Given the description of an element on the screen output the (x, y) to click on. 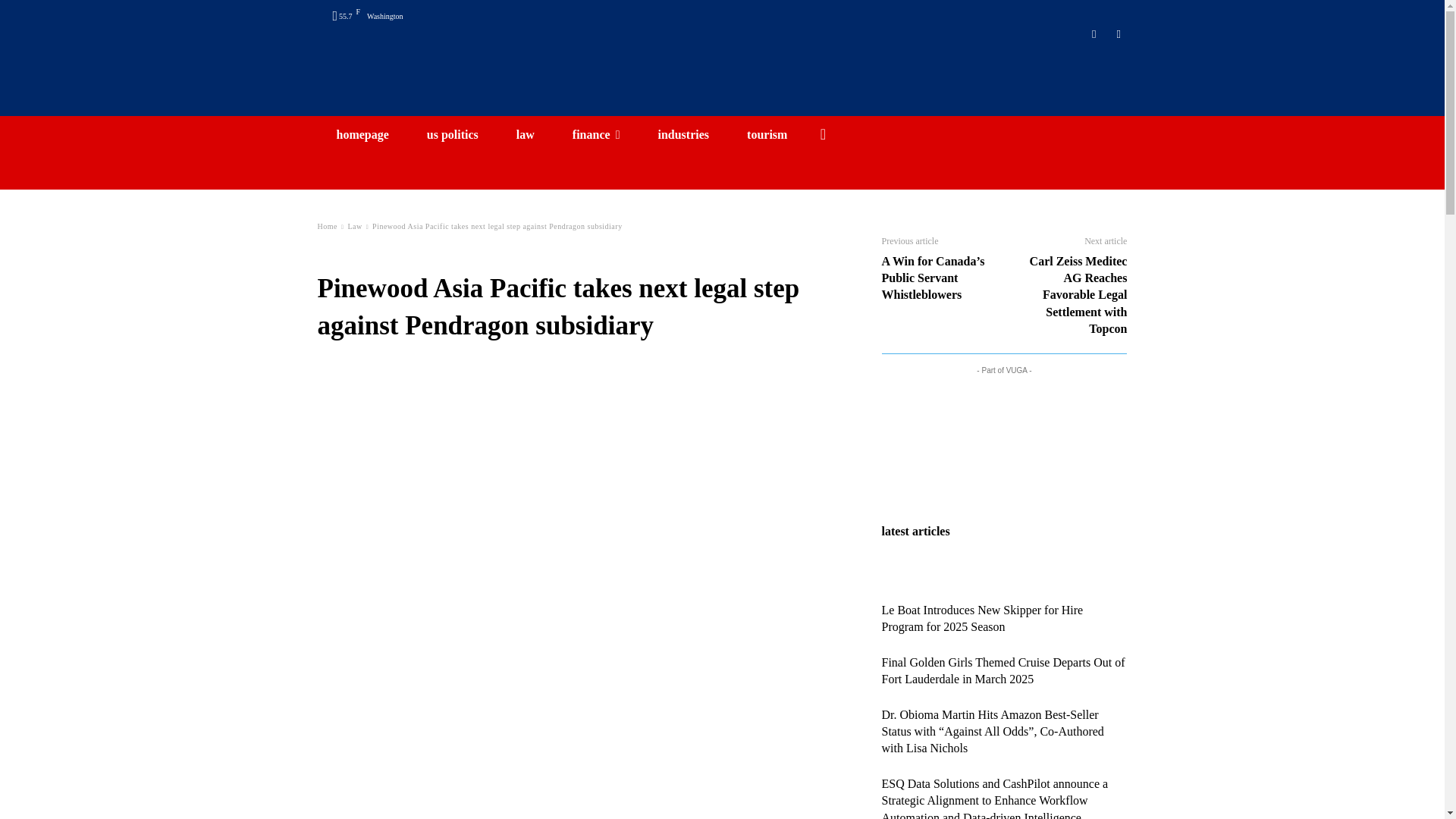
Instagram (1094, 34)
law (525, 133)
USA Post 2021 (721, 82)
tourism (767, 133)
USA Post 2021 (721, 82)
us politics (452, 133)
industries (683, 133)
homepage (362, 133)
Facebook (1117, 34)
finance (596, 133)
